Given the description of an element on the screen output the (x, y) to click on. 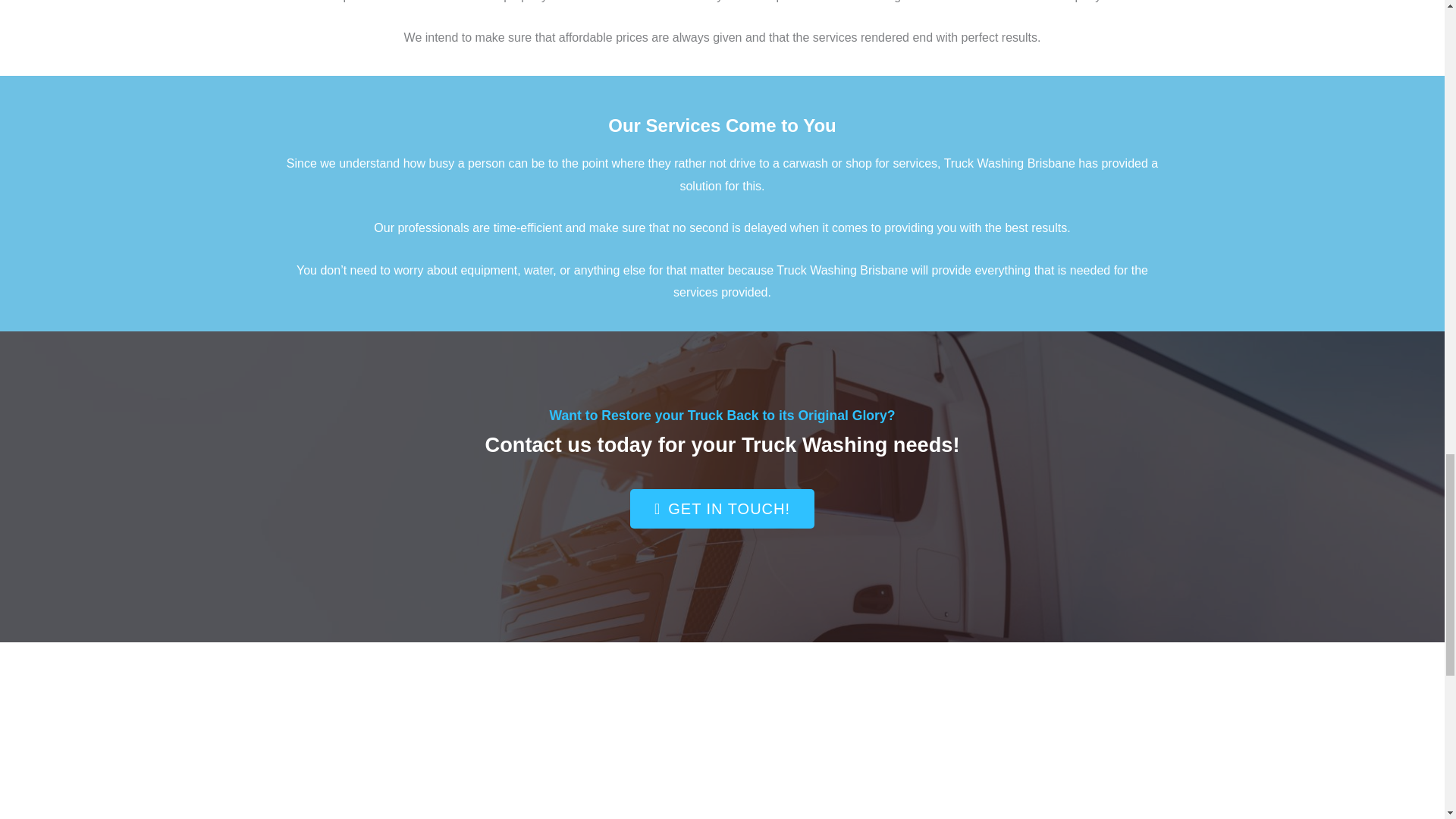
GET IN TOUCH! (721, 508)
